Given the description of an element on the screen output the (x, y) to click on. 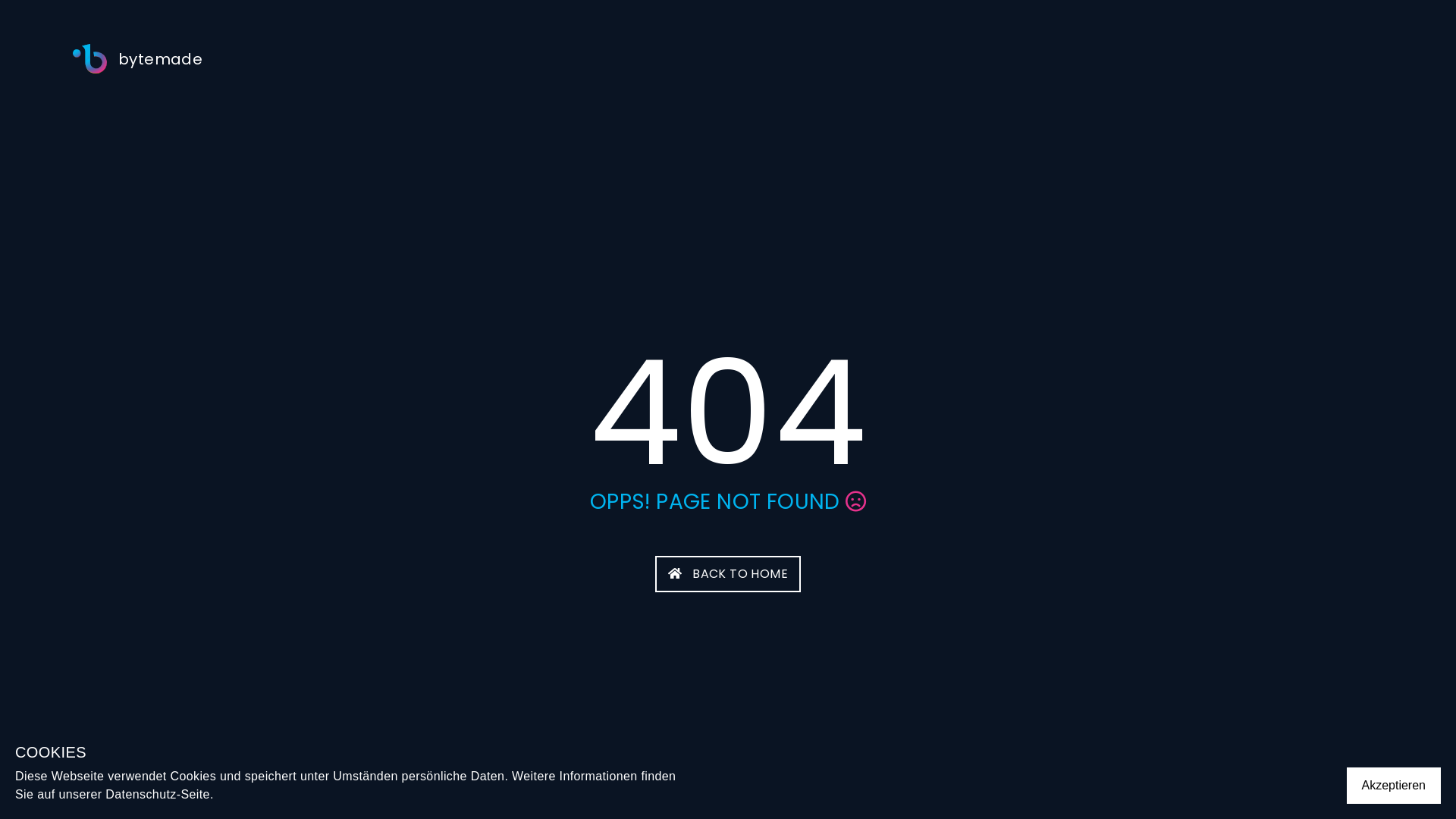
BACK TO HOME Element type: text (727, 573)
Akzeptieren Element type: text (1393, 785)
bytemade Element type: text (137, 58)
